Given the description of an element on the screen output the (x, y) to click on. 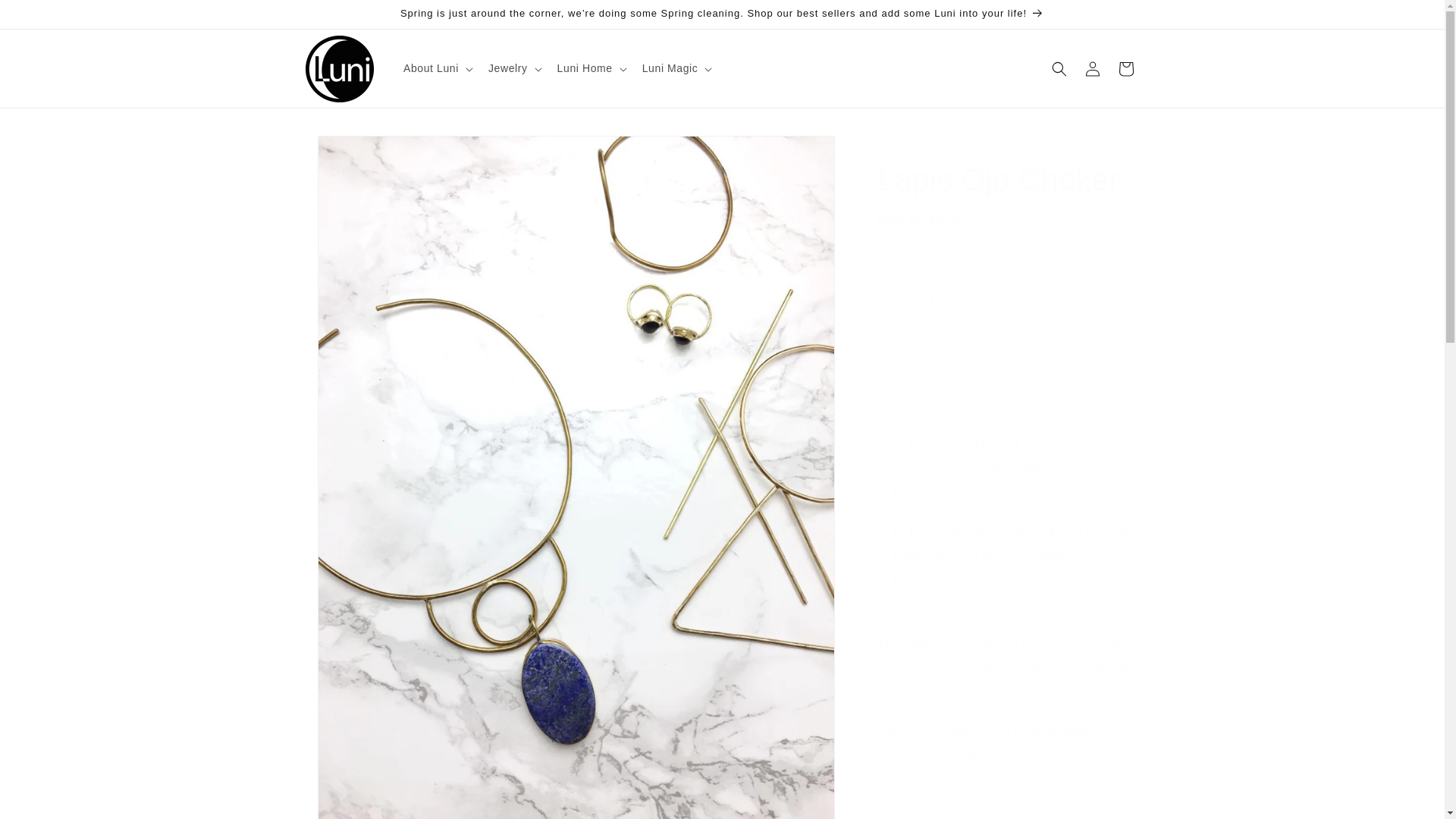
Skip to content (45, 17)
1 (931, 299)
